Given the description of an element on the screen output the (x, y) to click on. 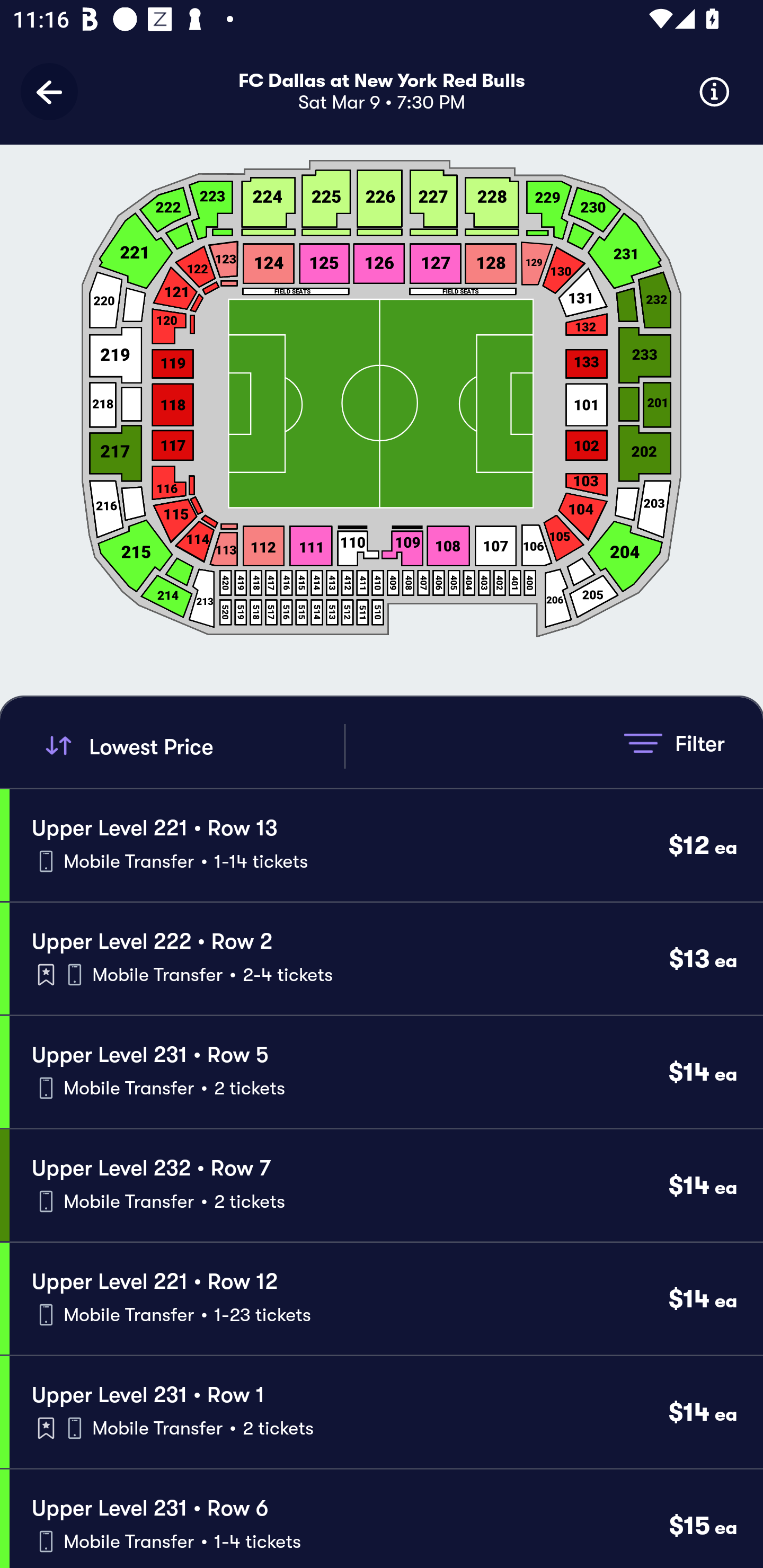
Lowest Price (191, 746)
Filter (674, 743)
